Given the description of an element on the screen output the (x, y) to click on. 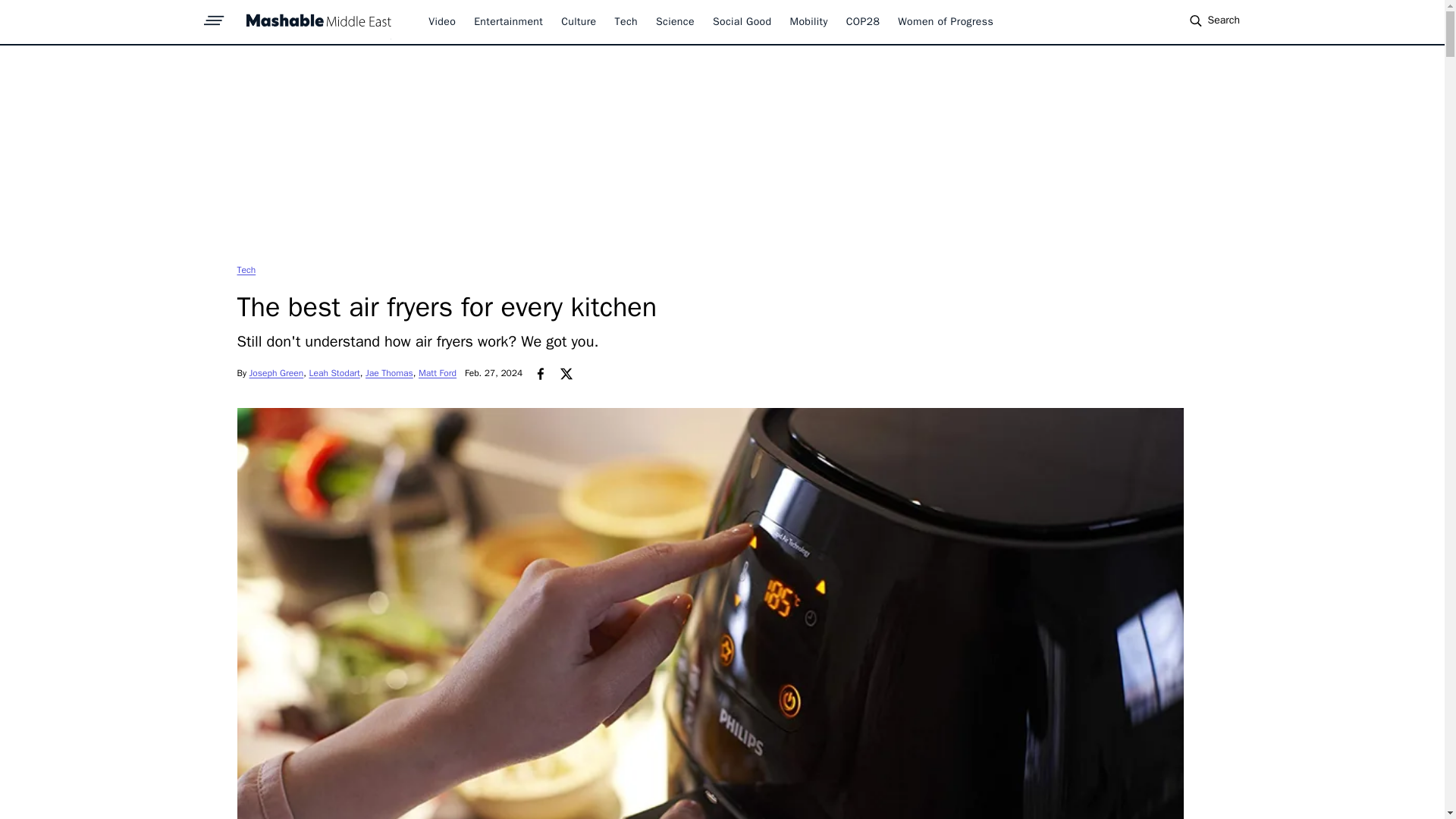
Mobility (809, 21)
COP28 (862, 21)
Video (441, 21)
Matt Ford (438, 372)
Culture (577, 21)
Jae Thomas (389, 372)
Tech (625, 21)
Women of Progress (945, 21)
Science (675, 21)
Joseph Green (276, 372)
Entertainment (508, 21)
Tech (245, 269)
Tech (245, 269)
Leah Stodart (333, 372)
sprite-hamburger (213, 16)
